Given the description of an element on the screen output the (x, y) to click on. 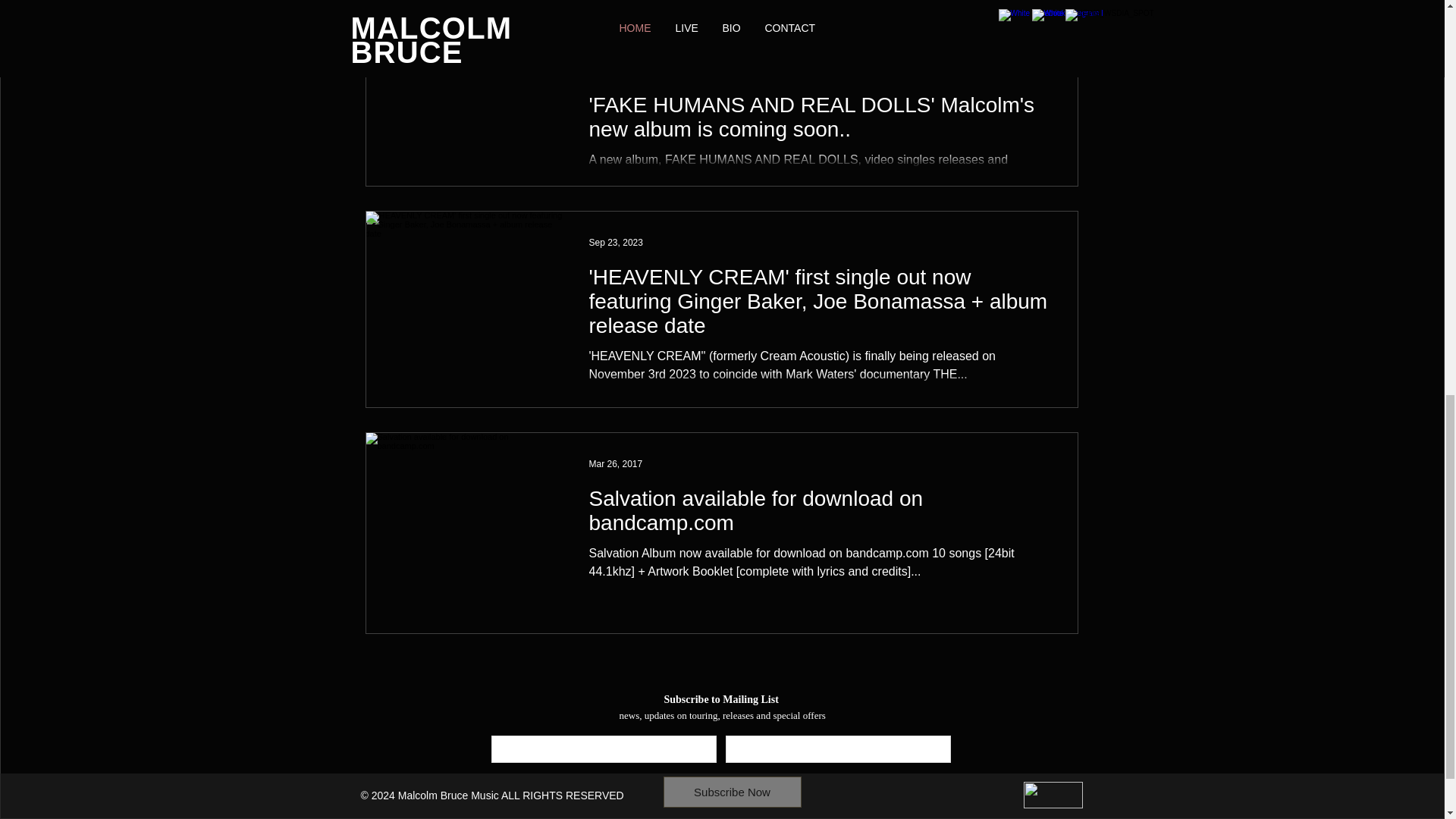
Mar 26, 2017 (615, 463)
Sep 23, 2023 (615, 70)
Subscribe Now (731, 791)
Salvation available for download on bandcamp.com (818, 515)
Sep 23, 2023 (615, 242)
